Given the description of an element on the screen output the (x, y) to click on. 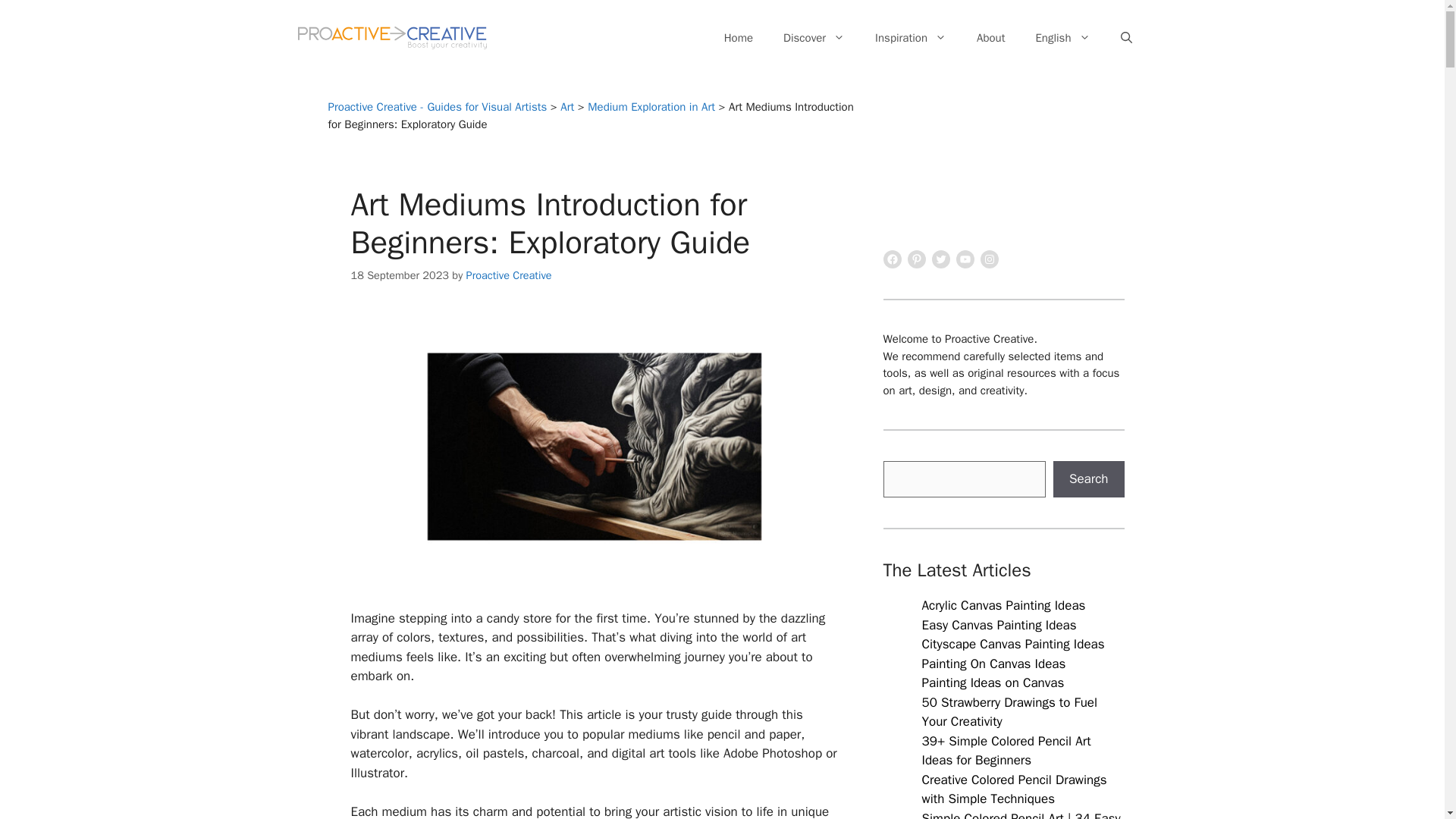
Home (738, 37)
View all posts by Proactive Creative (508, 274)
Proactive Creative - Guides for Visual Artists (437, 106)
Inspiration (910, 37)
Proactive Creative (508, 274)
English (1062, 37)
About (990, 37)
Medium Exploration in Art (651, 106)
Discover (814, 37)
Art (566, 106)
English (1062, 37)
Go to Proactive Creative - Guides for Visual Artists. (437, 106)
Go to the Medium Exploration in Art category archives. (651, 106)
Go to the Art category archives. (566, 106)
